Given the description of an element on the screen output the (x, y) to click on. 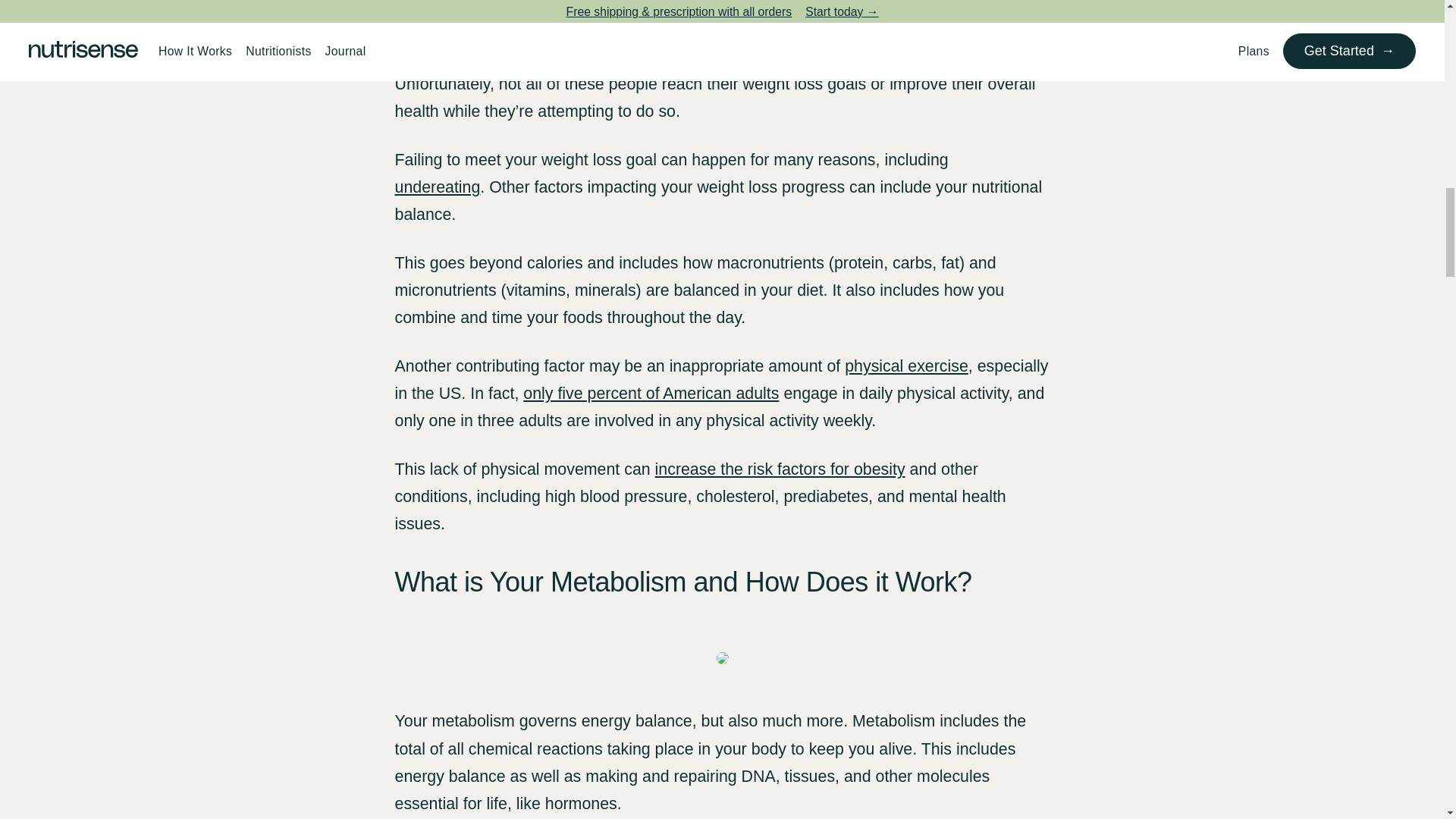
physical exercise (906, 366)
increase the risk factors for obesity (780, 469)
undereating (437, 187)
lose weight (850, 56)
45 million Americans (622, 28)
only five percent of American adults (650, 393)
studies have shown that 49.1 percent (721, 42)
